Given the description of an element on the screen output the (x, y) to click on. 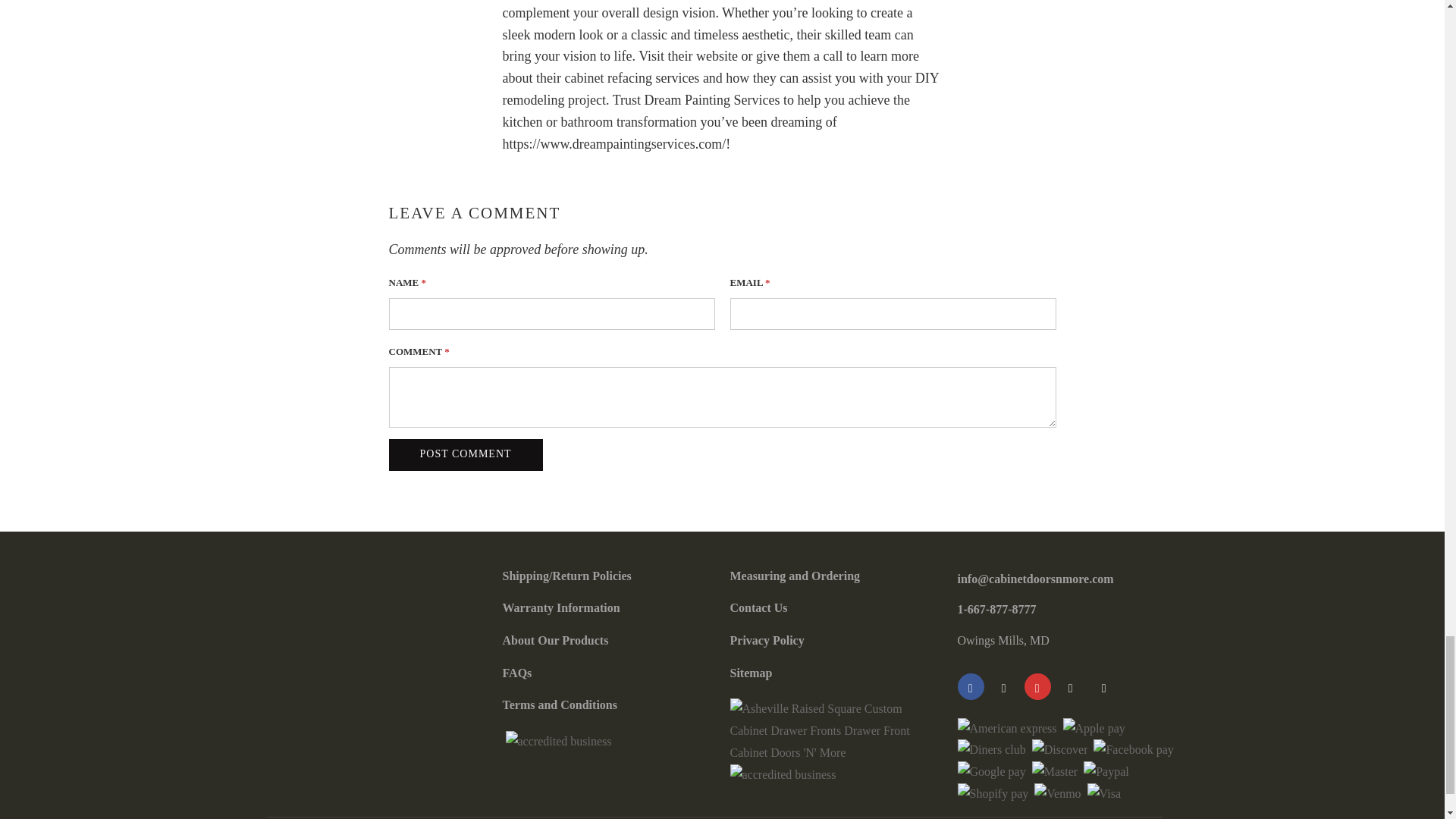
tel:1-667-877-8777 (995, 608)
Cabinet Doors 'N' More on Pinterest (1036, 686)
Cabinet Doors 'N' More on Facebook (970, 686)
Cabinet Doors 'N' More on YouTube (1003, 686)
Post comment (464, 454)
